Given the description of an element on the screen output the (x, y) to click on. 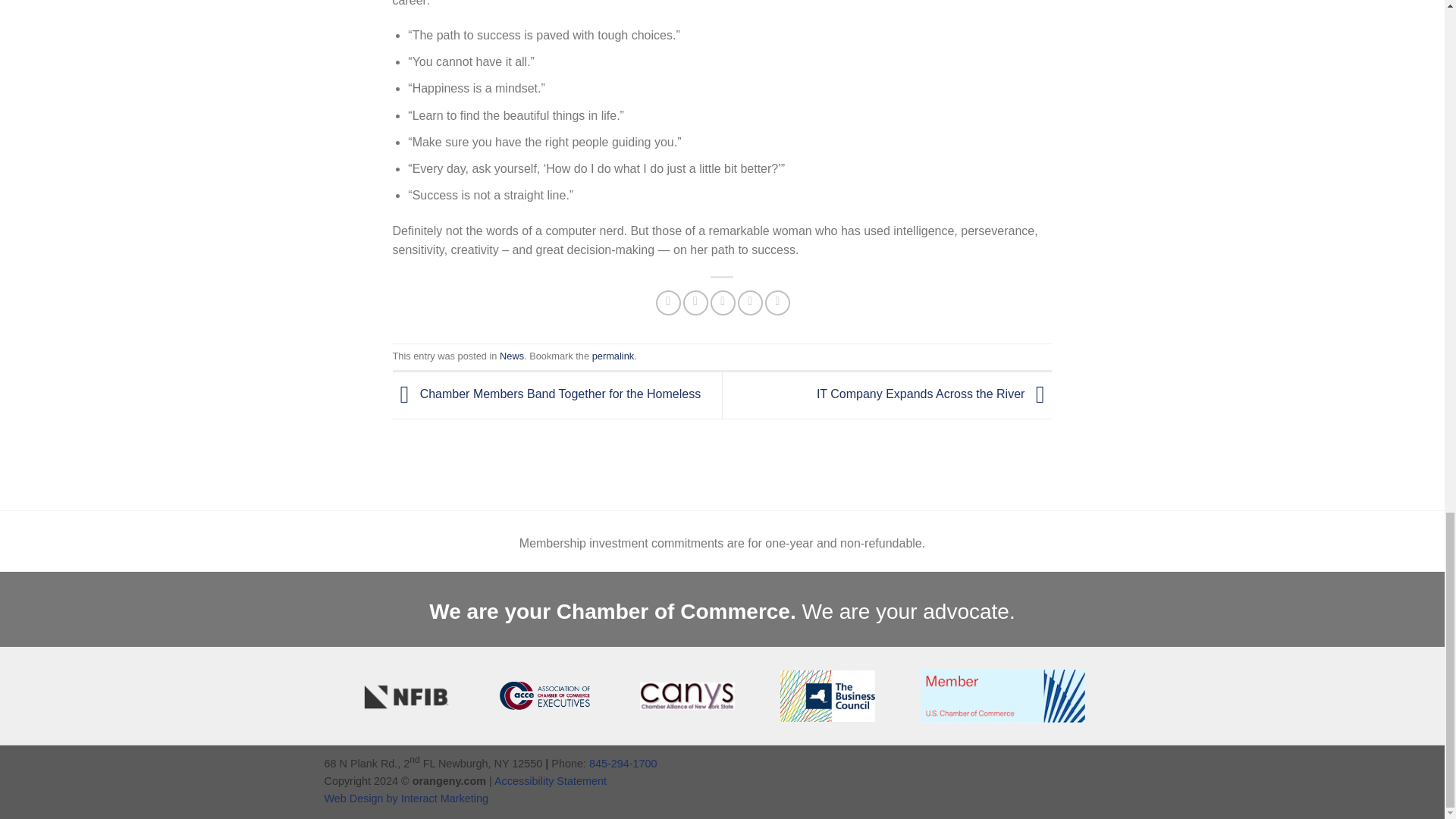
Share on LinkedIn (777, 302)
Share on Twitter (694, 302)
Pin on Pinterest (750, 302)
Email to a Friend (722, 302)
Share on Facebook (668, 302)
